Given the description of an element on the screen output the (x, y) to click on. 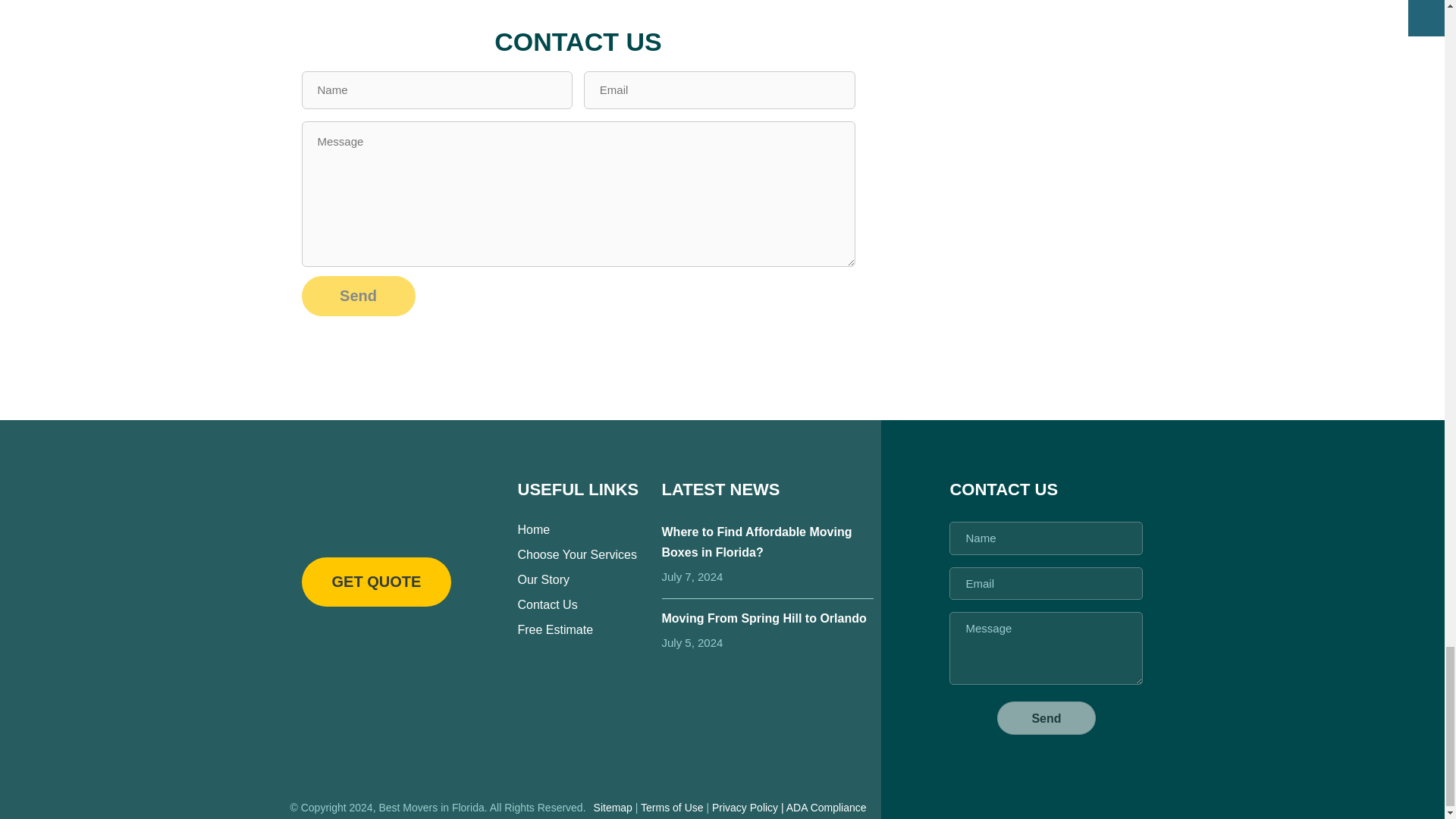
Send (357, 296)
Send (1046, 717)
Send (357, 296)
